Given the description of an element on the screen output the (x, y) to click on. 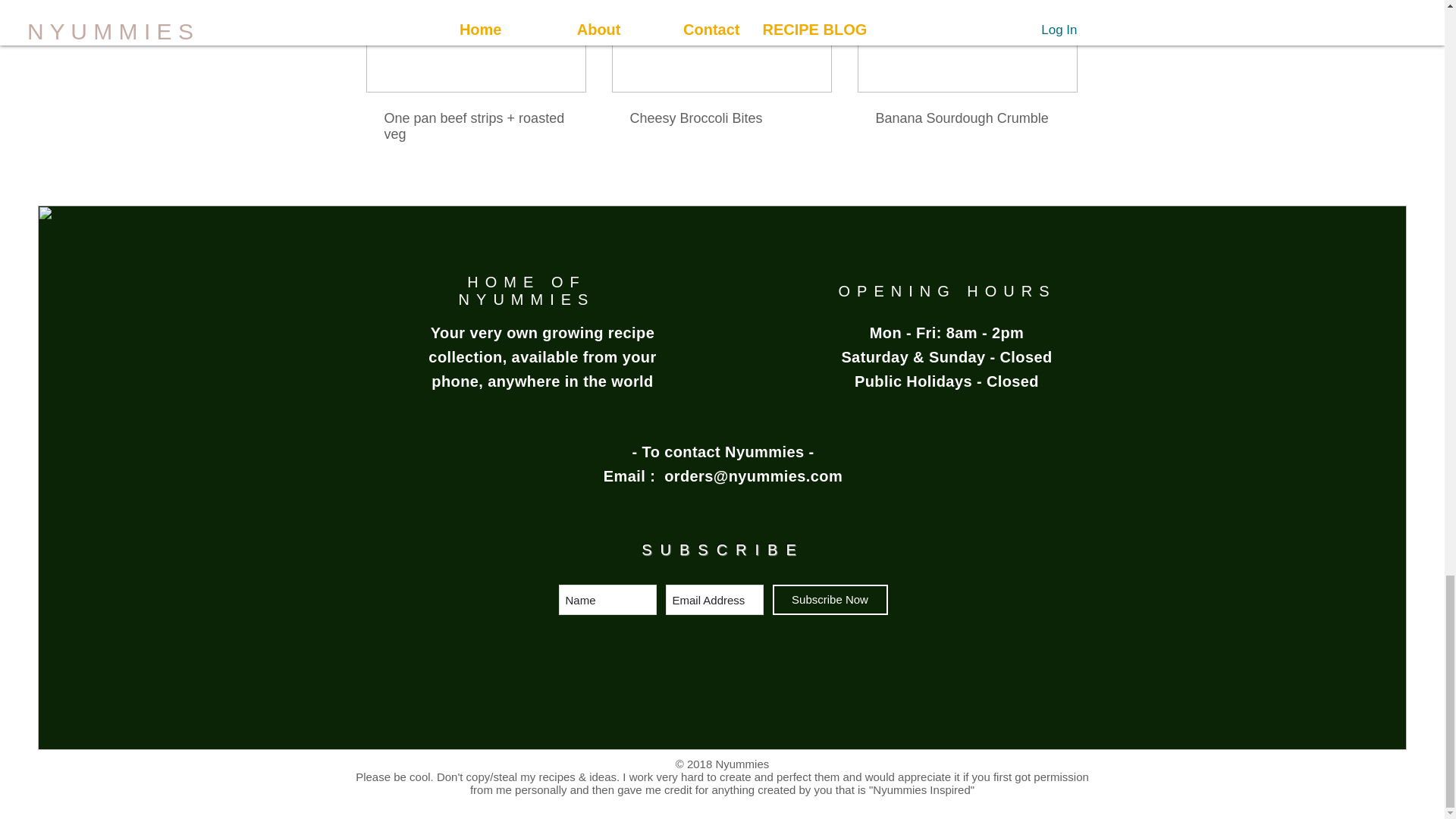
Subscribe Now (828, 599)
Banana Sourdough Crumble (966, 118)
Cheesy Broccoli Bites (720, 118)
